Given the description of an element on the screen output the (x, y) to click on. 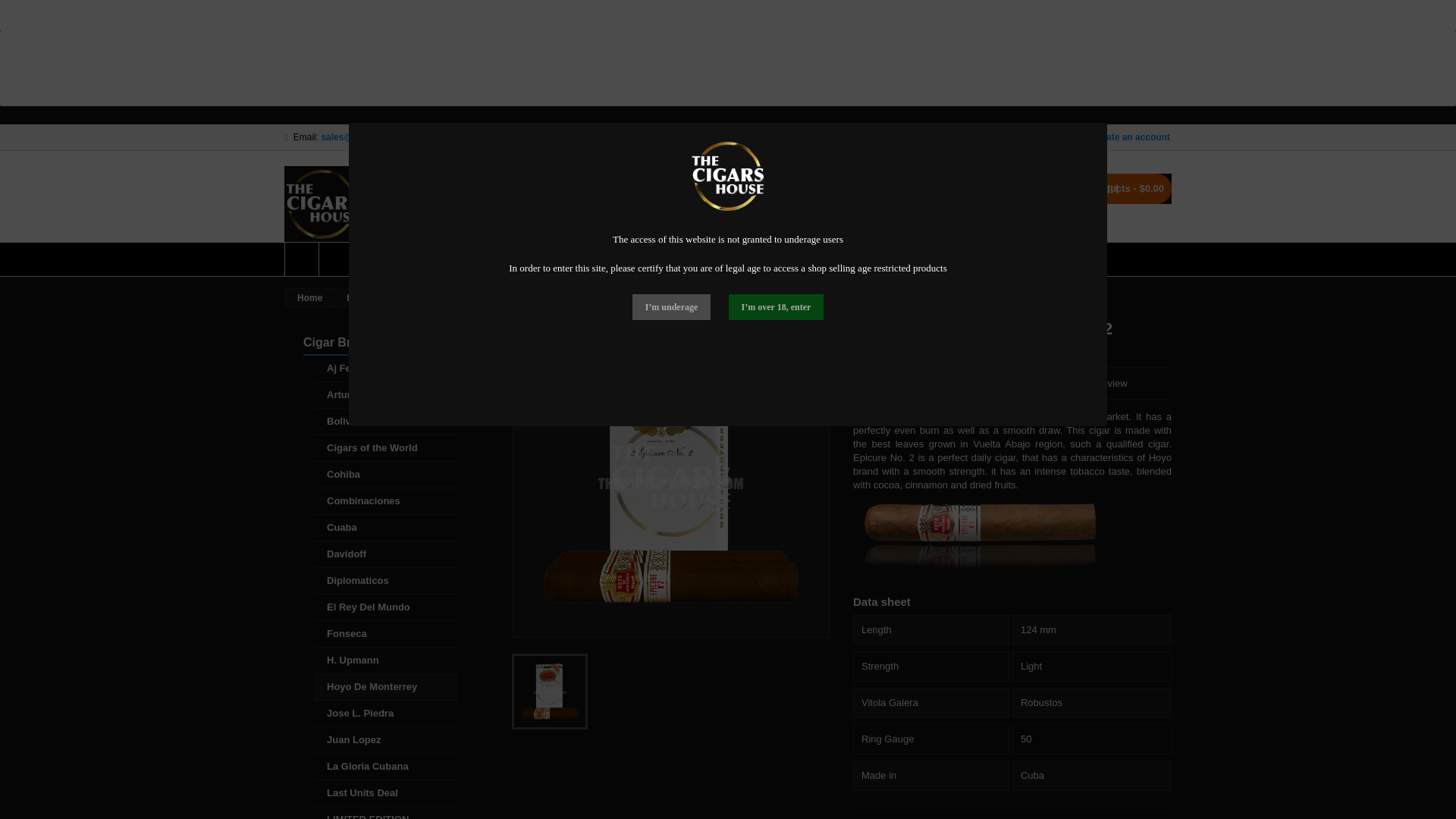
Sign in (1064, 136)
Log in to your customer account (1130, 136)
Cigar Brands (365, 259)
Hoyo De Monterrey (983, 351)
Categories (340, 343)
Create an account (1130, 136)
Log in to your customer account (1064, 136)
